Given the description of an element on the screen output the (x, y) to click on. 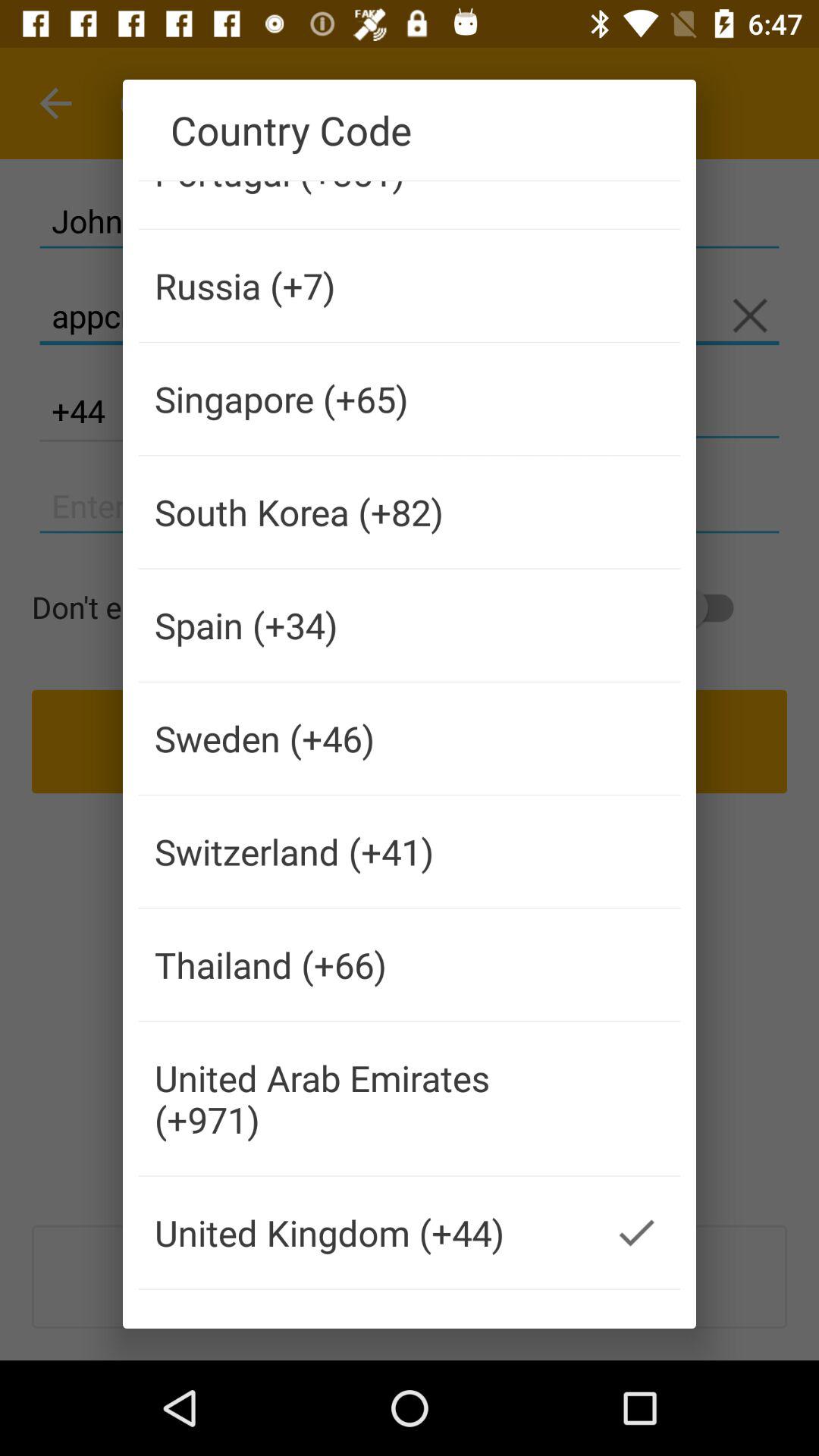
turn off icon below spain (+34) (365, 738)
